Given the description of an element on the screen output the (x, y) to click on. 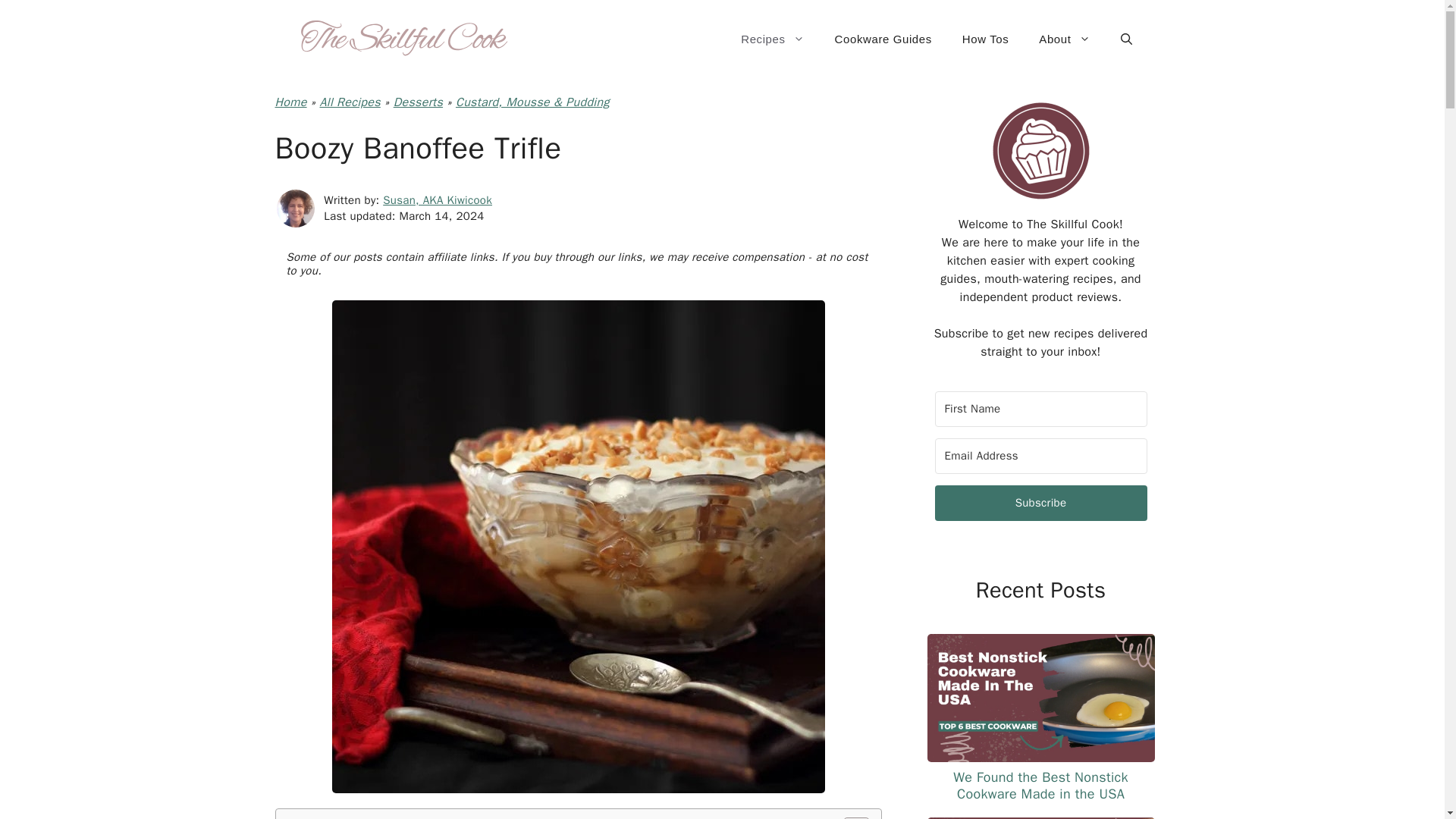
Recipes (771, 39)
TSC logo (1040, 151)
How Tos (985, 39)
About (1064, 39)
Cookware Guides (883, 39)
